Given the description of an element on the screen output the (x, y) to click on. 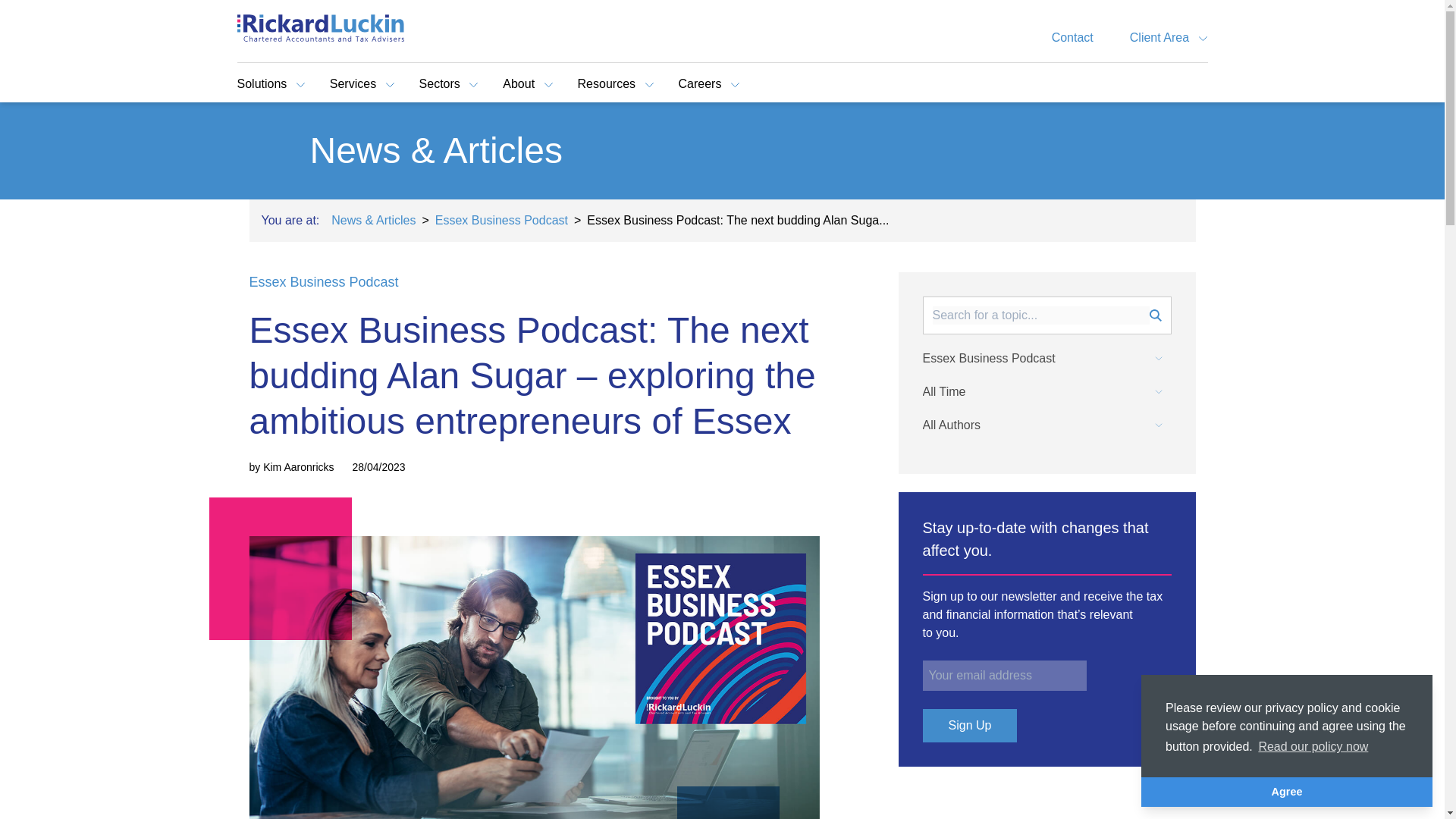
Agree (1286, 791)
Read our policy now (1312, 746)
Contact (1072, 37)
